Given the description of an element on the screen output the (x, y) to click on. 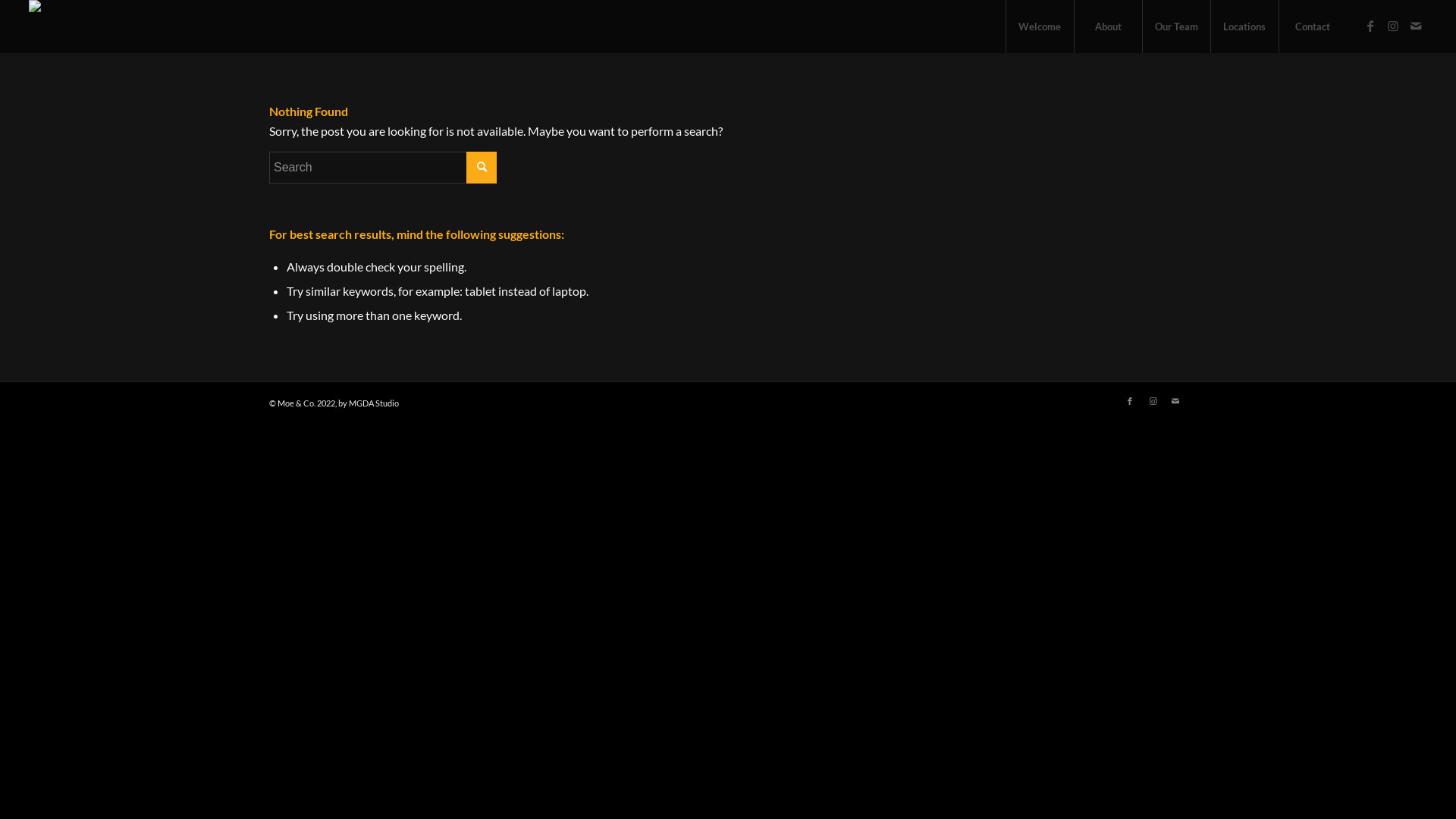
Instagram Element type: hover (1152, 400)
Facebook Element type: hover (1369, 25)
Instagram Element type: hover (1392, 25)
Mail Element type: hover (1415, 25)
Locations Element type: text (1244, 26)
Welcome Element type: text (1039, 26)
About Element type: text (1107, 26)
Facebook Element type: hover (1129, 400)
Mail Element type: hover (1175, 400)
Contact Element type: text (1312, 26)
Our Team Element type: text (1176, 26)
